Given the description of an element on the screen output the (x, y) to click on. 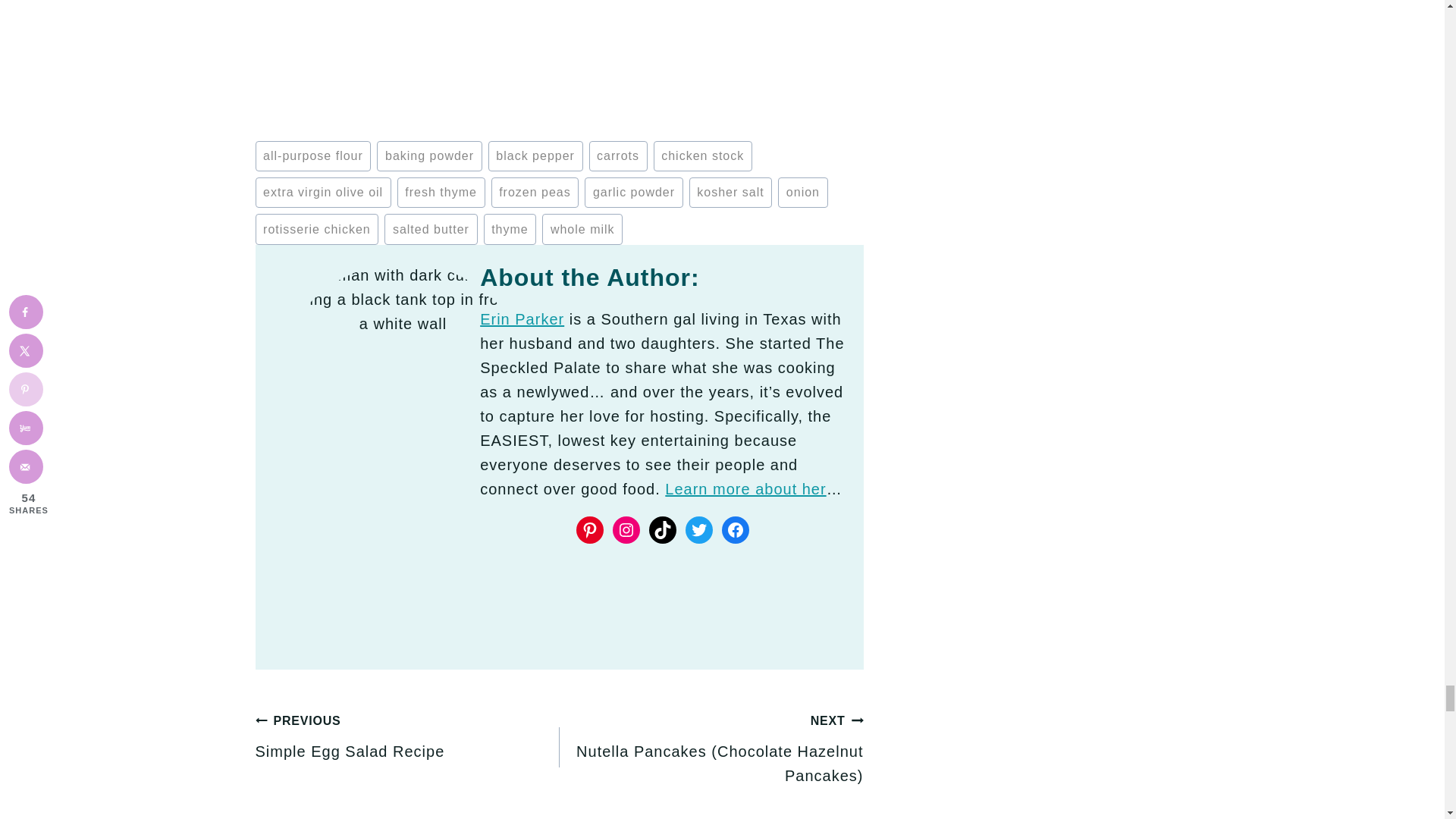
frozen peas (535, 192)
carrots (617, 155)
black pepper (535, 155)
extra virgin olive oil (322, 192)
all-purpose flour (312, 155)
fresh thyme (440, 192)
rotisserie chicken (316, 228)
baking powder (429, 155)
kosher salt (730, 192)
onion (802, 192)
